Given the description of an element on the screen output the (x, y) to click on. 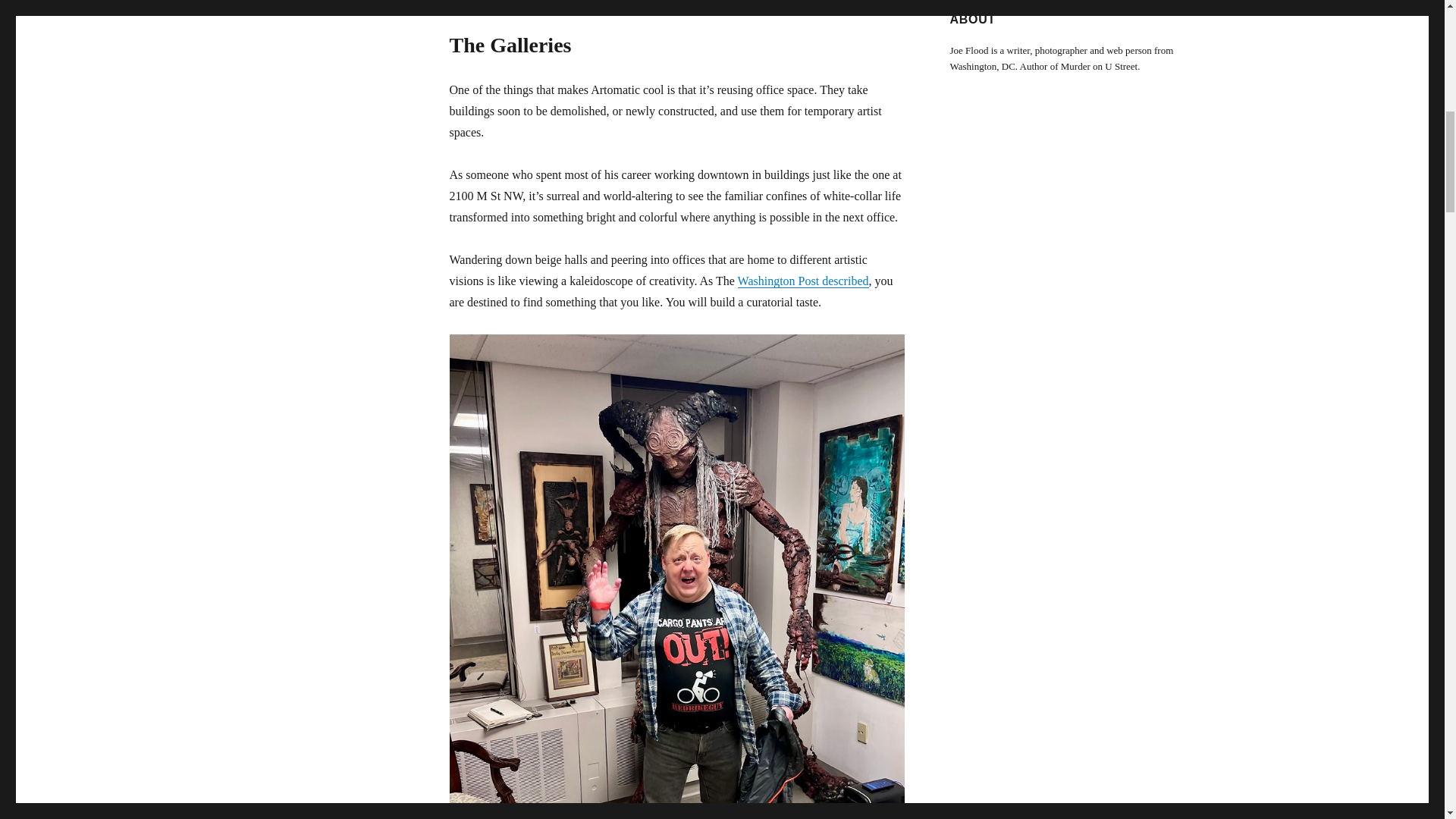
Washington Post described (803, 280)
